Given the description of an element on the screen output the (x, y) to click on. 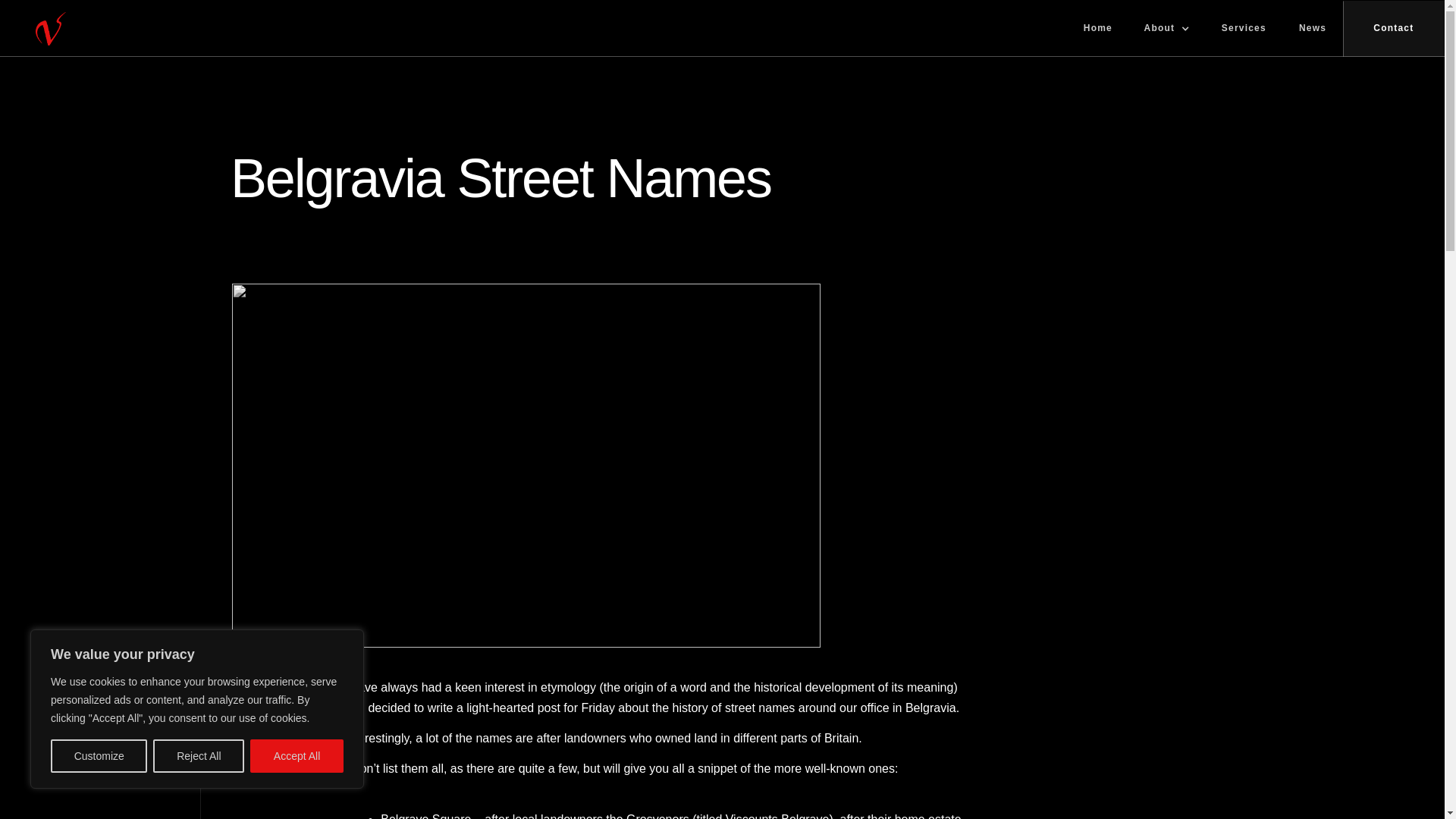
Services (1243, 28)
News (1312, 28)
About (1167, 28)
Customize (98, 756)
Reject All (198, 756)
Accept All (296, 756)
Home (1097, 28)
